Given the description of an element on the screen output the (x, y) to click on. 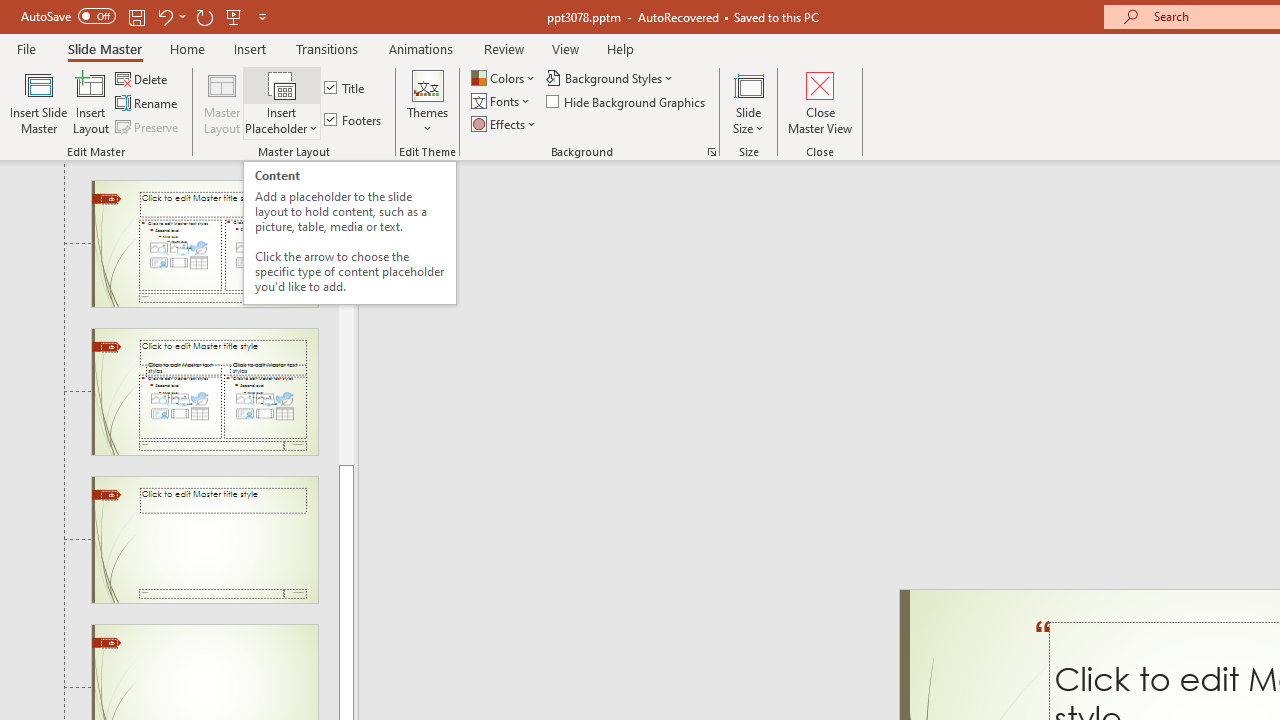
Content (282, 84)
Title (346, 87)
Slide Master (104, 48)
Format Background... (711, 151)
Effects (505, 124)
Background Styles (610, 78)
